Given the description of an element on the screen output the (x, y) to click on. 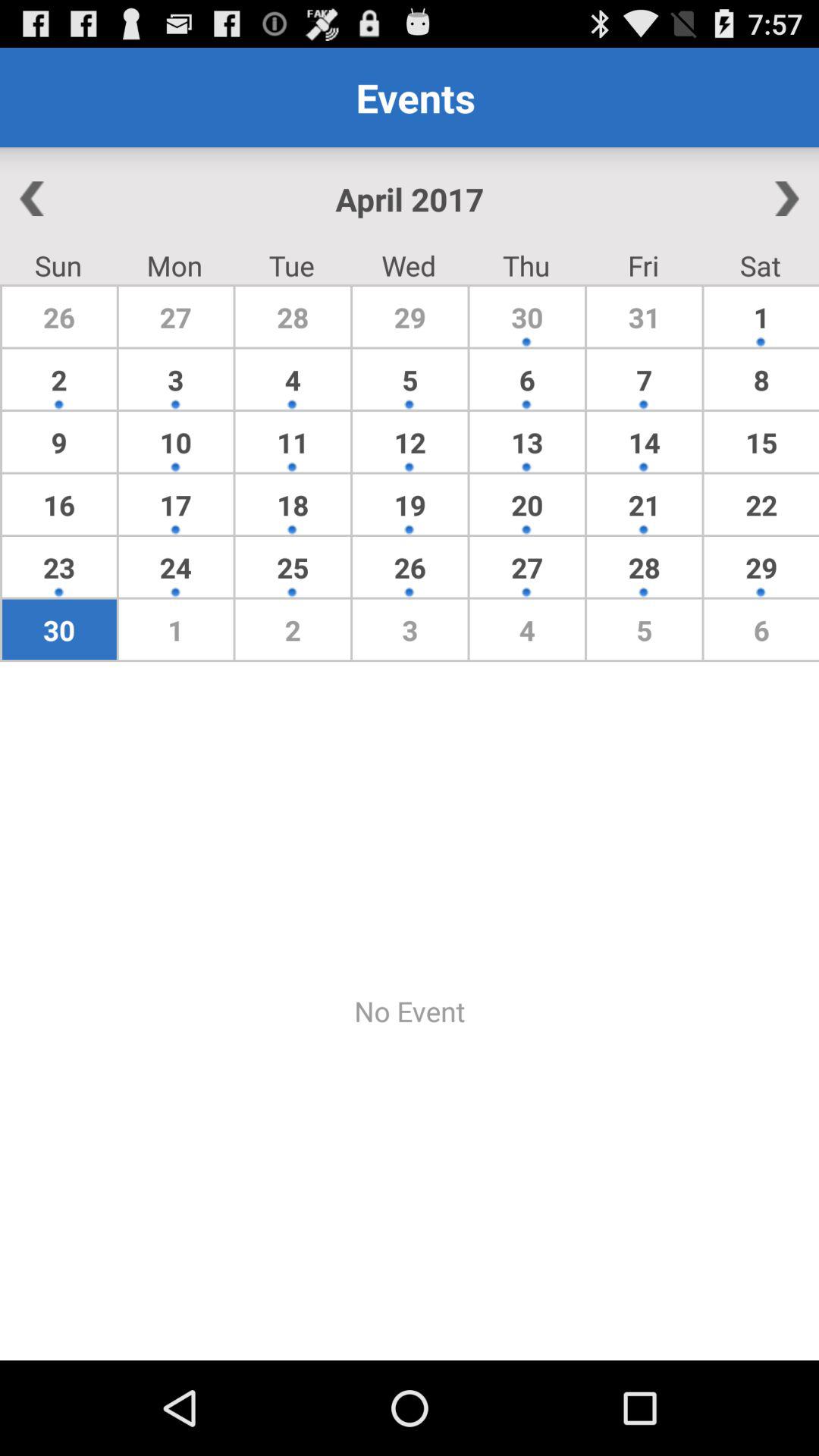
click the icon to the left of 14 item (526, 504)
